Given the description of an element on the screen output the (x, y) to click on. 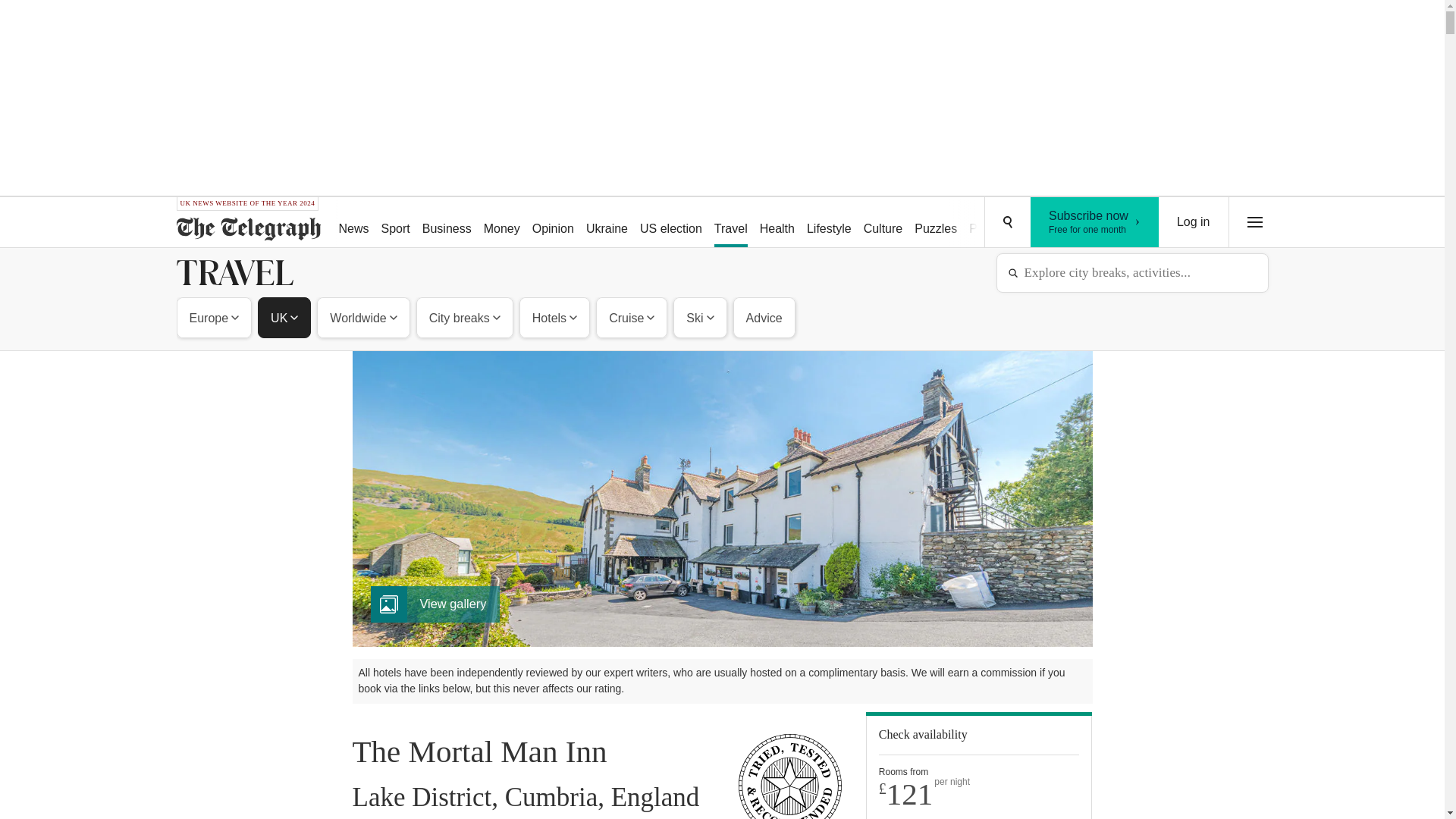
US election (670, 223)
Business (446, 223)
Health (1094, 222)
Money (777, 223)
Lifestyle (501, 223)
Culture (828, 223)
UK (882, 223)
Opinion (284, 317)
Worldwide (552, 223)
